Given the description of an element on the screen output the (x, y) to click on. 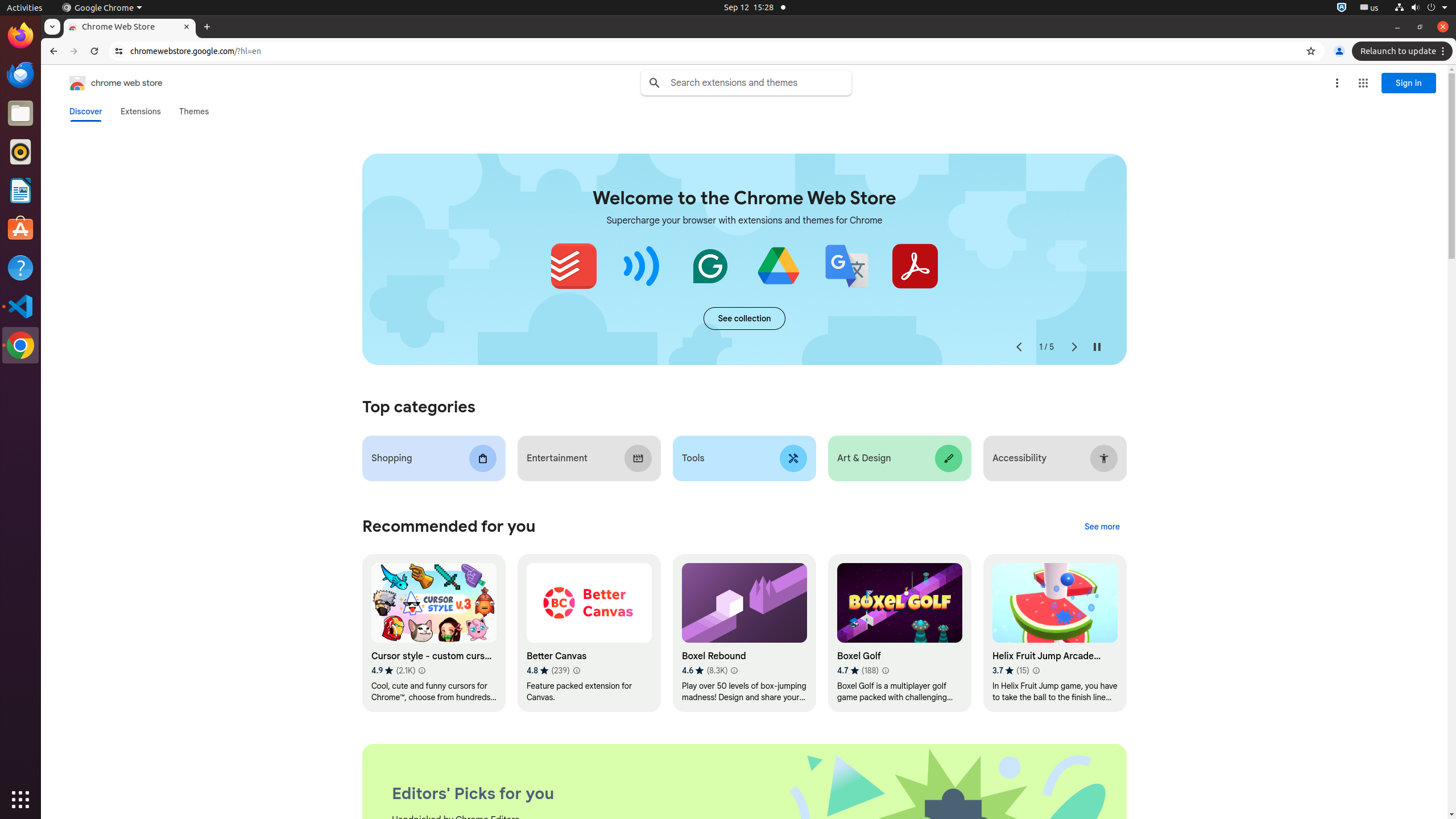
LibreOffice Writer Element type: push-button (20, 190)
Google Chrome Element type: push-button (20, 344)
Reload Element type: push-button (94, 50)
Learn more about results and reviews "Better Canvas" Element type: push-button (575, 670)
Tools Element type: link (744, 458)
